Given the description of an element on the screen output the (x, y) to click on. 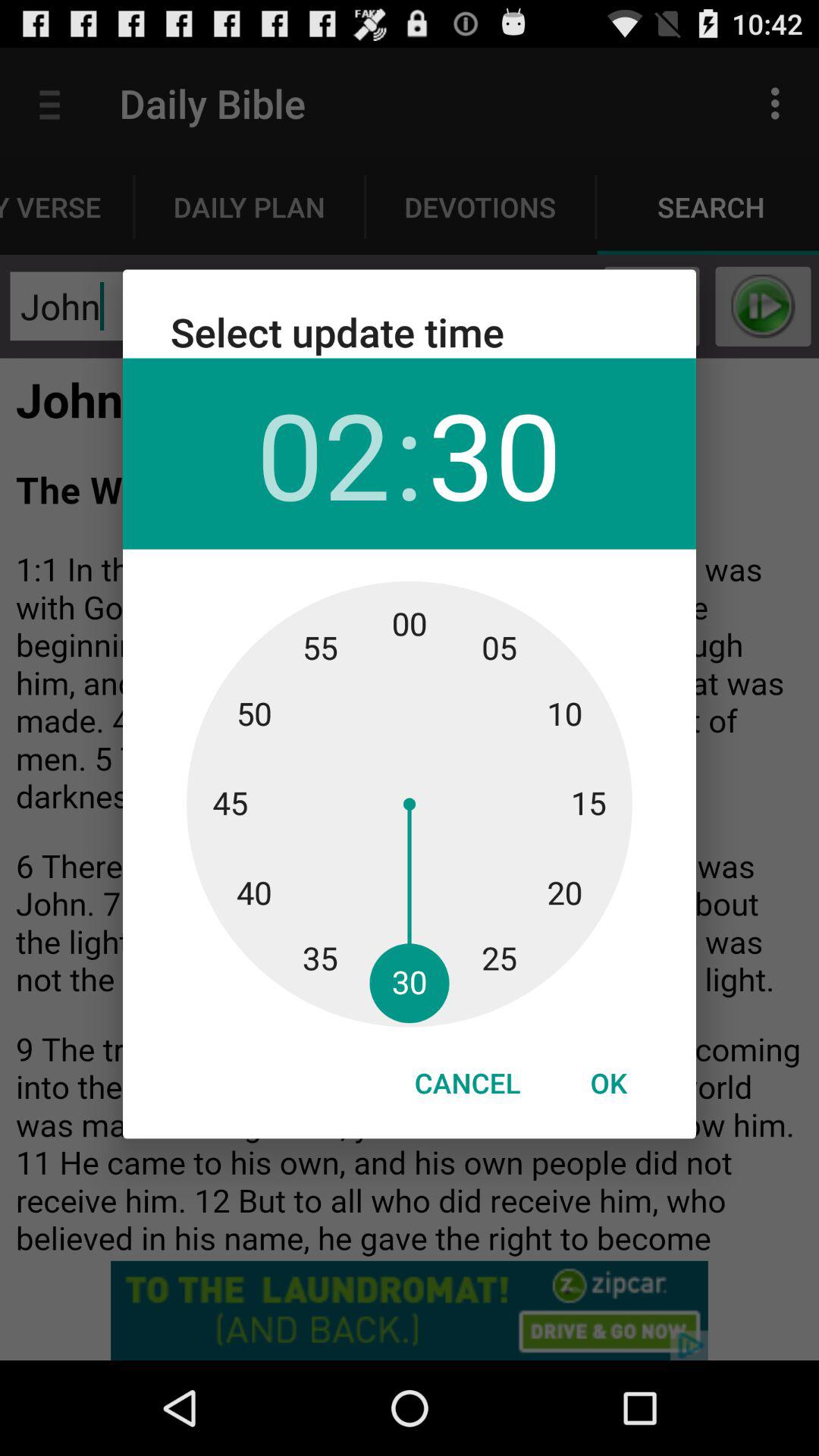
turn off item at the bottom right corner (608, 1082)
